Given the description of an element on the screen output the (x, y) to click on. 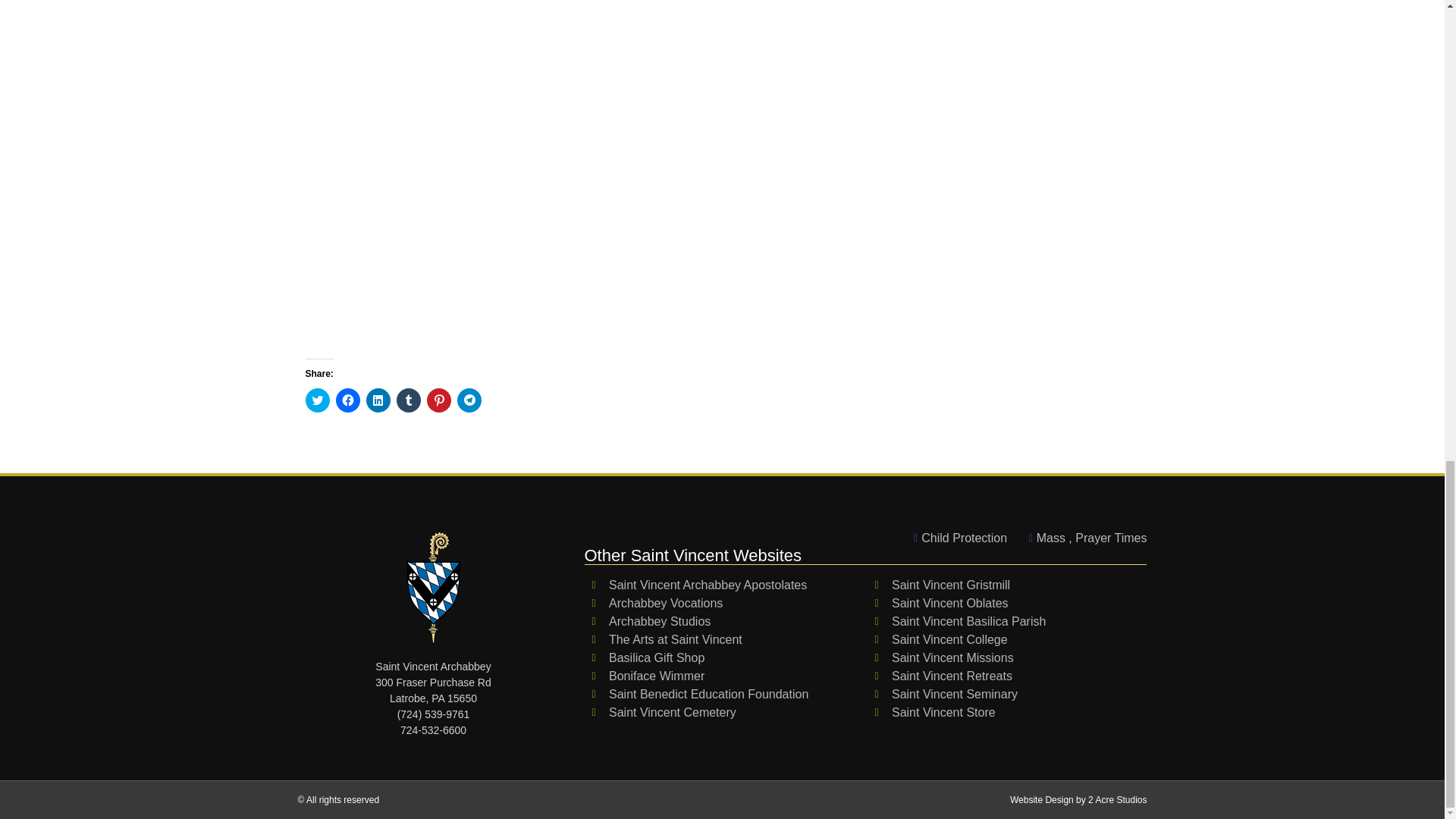
Mass , Prayer Times (1083, 538)
Click to share on Twitter (316, 400)
Saint Vincent Archabbey Apostolates (725, 585)
Child Protection (955, 538)
Click to share on Telegram (468, 400)
Click to share on Tumblr (408, 400)
Archabbey Vocations (725, 603)
Click to share on LinkedIn (377, 400)
Click to share on Pinterest (437, 400)
Click to share on Facebook (346, 400)
